Given the description of an element on the screen output the (x, y) to click on. 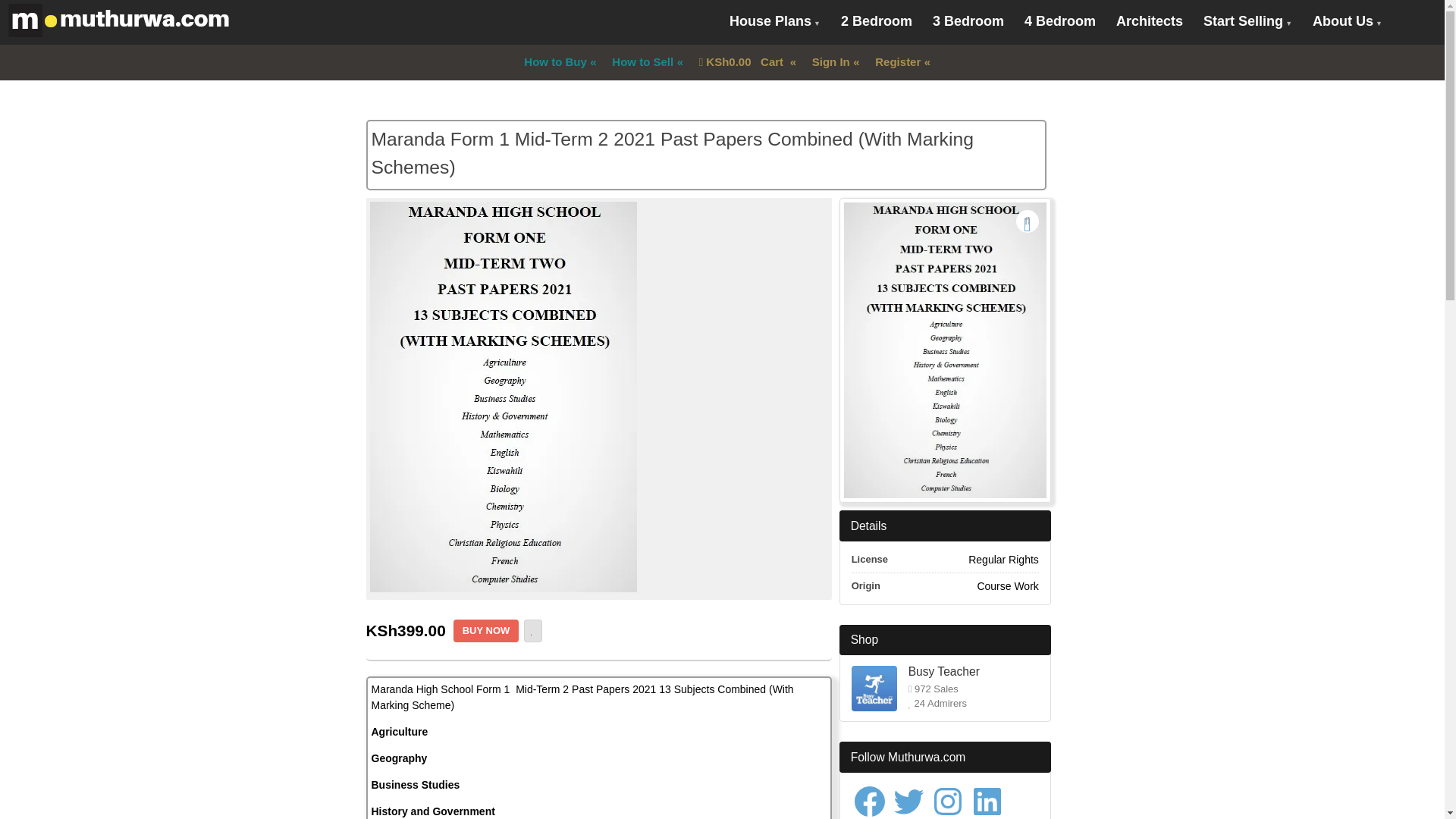
Sign In (830, 61)
3 Bedroom (967, 20)
KSh0.00   Cart (742, 61)
How to Sell (641, 61)
Architects (1149, 20)
About Us (1347, 22)
Start Selling (1247, 22)
How to Buy (554, 61)
4 Bedroom (1059, 20)
2 Bedroom (876, 20)
BUY NOW (485, 630)
Register (897, 61)
House Plans (774, 22)
